Given the description of an element on the screen output the (x, y) to click on. 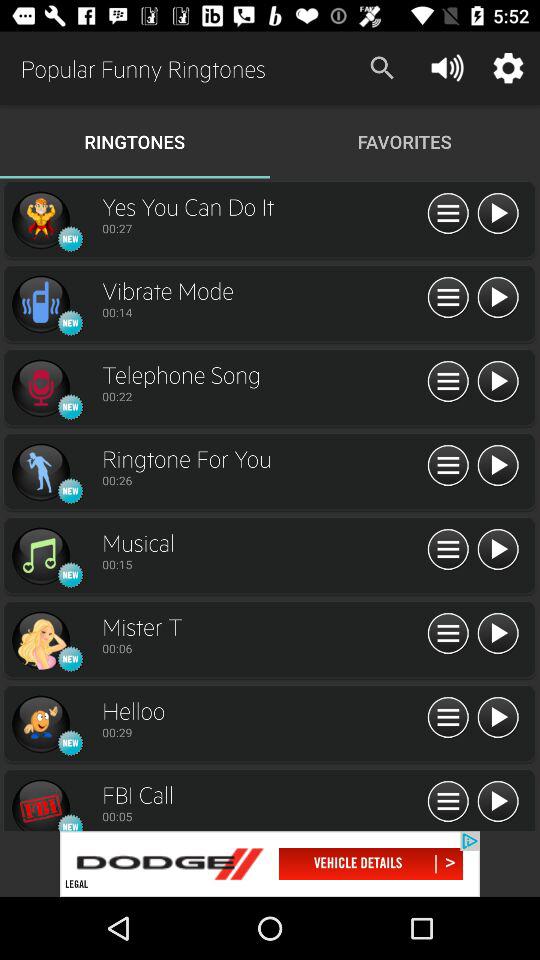
go to ringtone (40, 556)
